Given the description of an element on the screen output the (x, y) to click on. 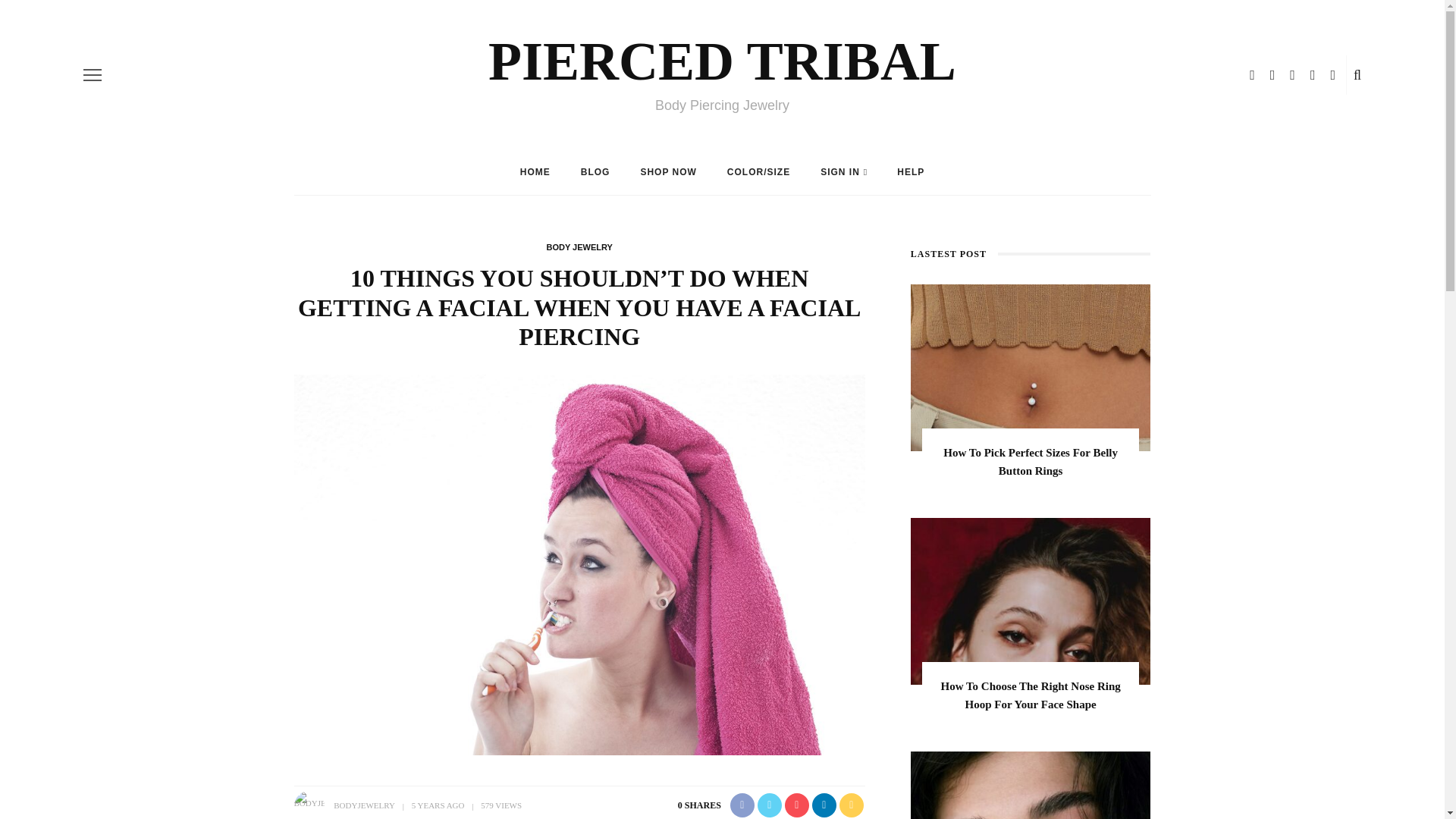
SHOP NOW (667, 171)
579 VIEWS (500, 804)
BODYJEWELRY (363, 804)
How To Choose The Right Nose Ring Hoop For Your Face Shape (1031, 600)
BLOG (596, 171)
How To Pick Perfect Sizes For Belly Button Rings (1031, 367)
How To Pick Perfect Sizes For Belly Button Rings (1030, 461)
SIGN IN (843, 171)
HELP (910, 171)
PIERCED TRIBAL (721, 61)
How To Choose The Right Nose Ring Hoop For Your Face Shape (1030, 695)
off canvas button (91, 75)
HOME (535, 171)
BODY JEWELRY (578, 246)
Post by bodyjewelry (363, 804)
